Given the description of an element on the screen output the (x, y) to click on. 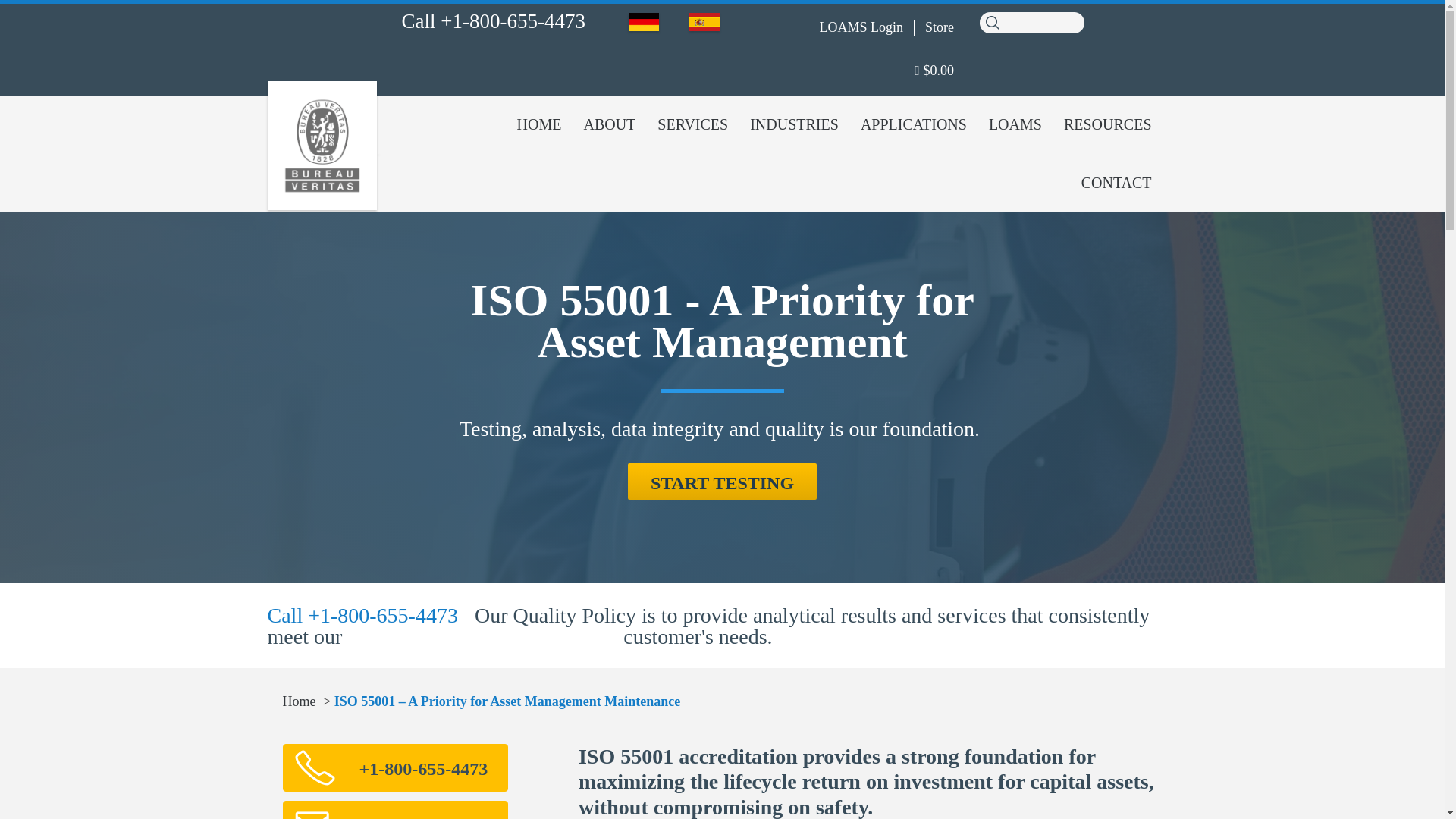
Search (991, 21)
Search (991, 21)
Search (991, 21)
Go to Home. (298, 701)
HOME (539, 124)
INDUSTRIES (793, 124)
Store (938, 27)
APPLICATIONS (913, 124)
SERVICES (692, 124)
LOAMS Login (861, 27)
Start shopping (933, 70)
ABOUT (609, 124)
BV-OCM-Spain (703, 22)
BV OCM Germany (643, 22)
